Given the description of an element on the screen output the (x, y) to click on. 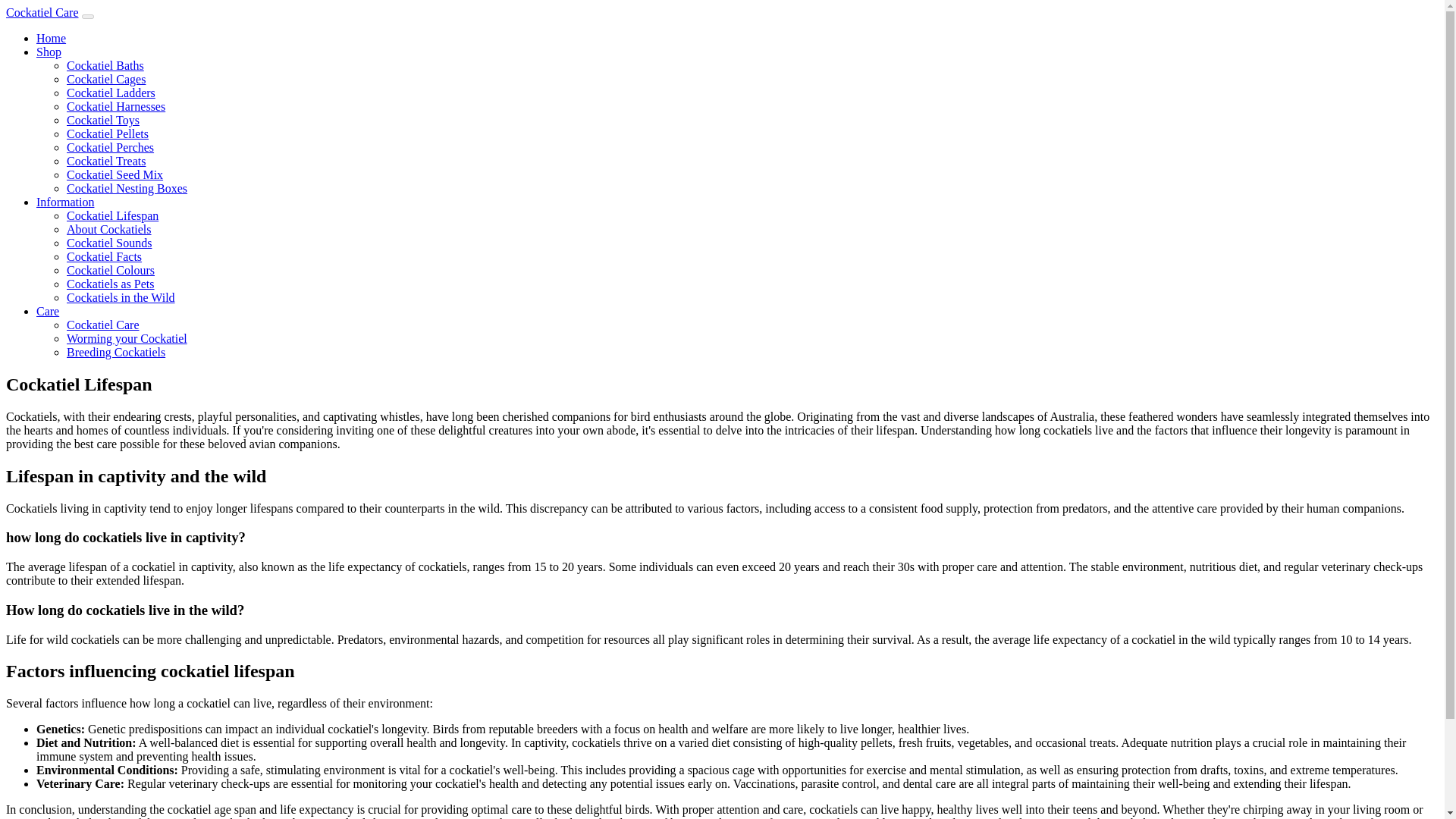
Cockatiel Baths (105, 65)
Care (47, 310)
Information (65, 201)
Breeding Cockatiels (115, 351)
Cockatiels as Pets (110, 283)
Cockatiel Seed Mix (114, 174)
Worming your Cockatiel (126, 338)
Cockatiel Facts (103, 256)
Cockatiel Treats (105, 160)
Cockatiel Nesting Boxes (126, 187)
Cockatiel Harnesses (115, 106)
Cockatiel Cages (105, 78)
Shop (48, 51)
Home (50, 38)
Cockatiel Toys (102, 119)
